Given the description of an element on the screen output the (x, y) to click on. 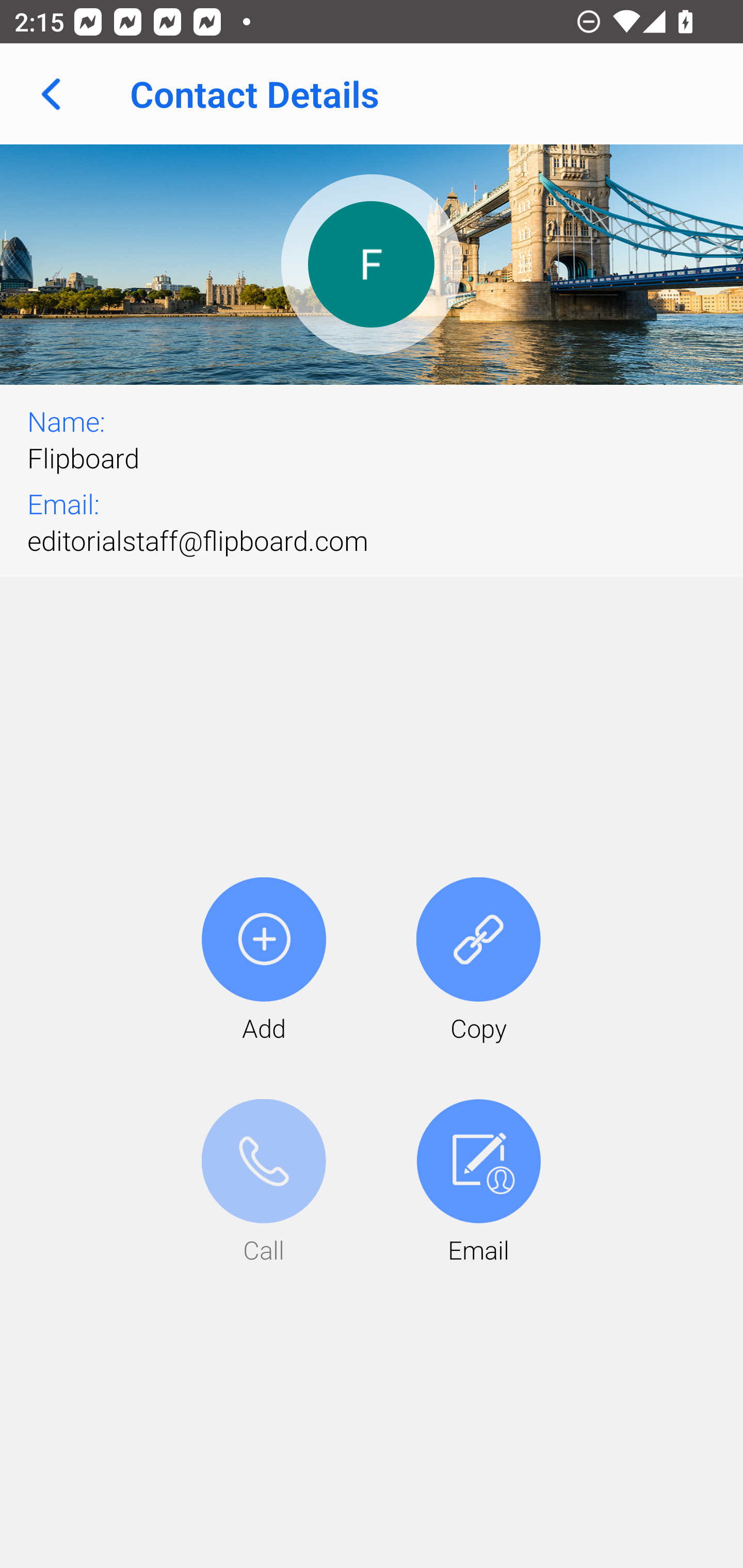
Navigate up (50, 93)
Add (264, 961)
Copy (478, 961)
Call (264, 1182)
Email (478, 1182)
